Given the description of an element on the screen output the (x, y) to click on. 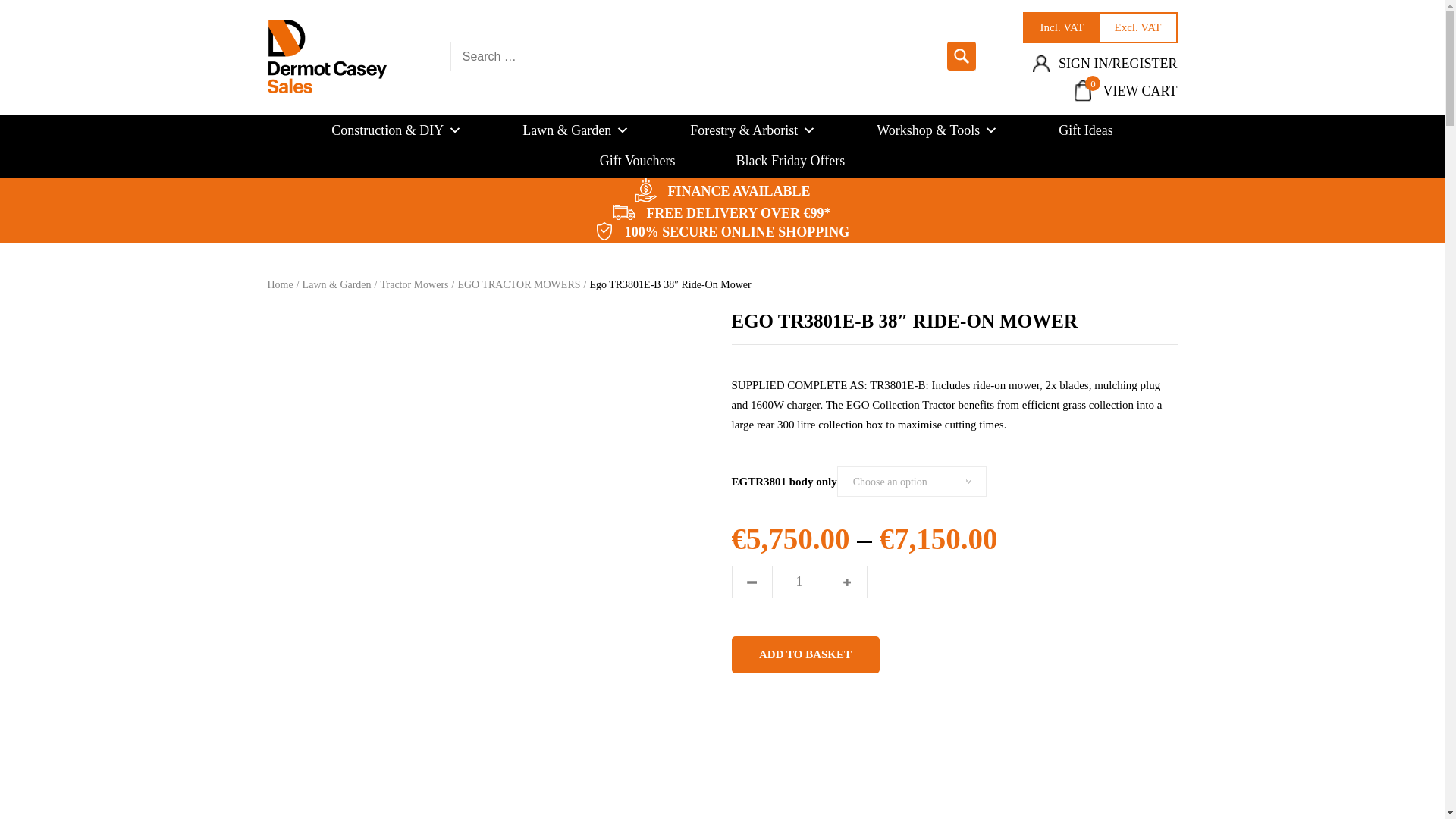
Search (961, 55)
dermotcasey (326, 56)
onsale (603, 230)
Search (961, 55)
1 (799, 581)
Qty (799, 581)
Finance Available (1125, 90)
Free Nationwide Delivery (645, 190)
- (1099, 27)
Search (623, 212)
